Given the description of an element on the screen output the (x, y) to click on. 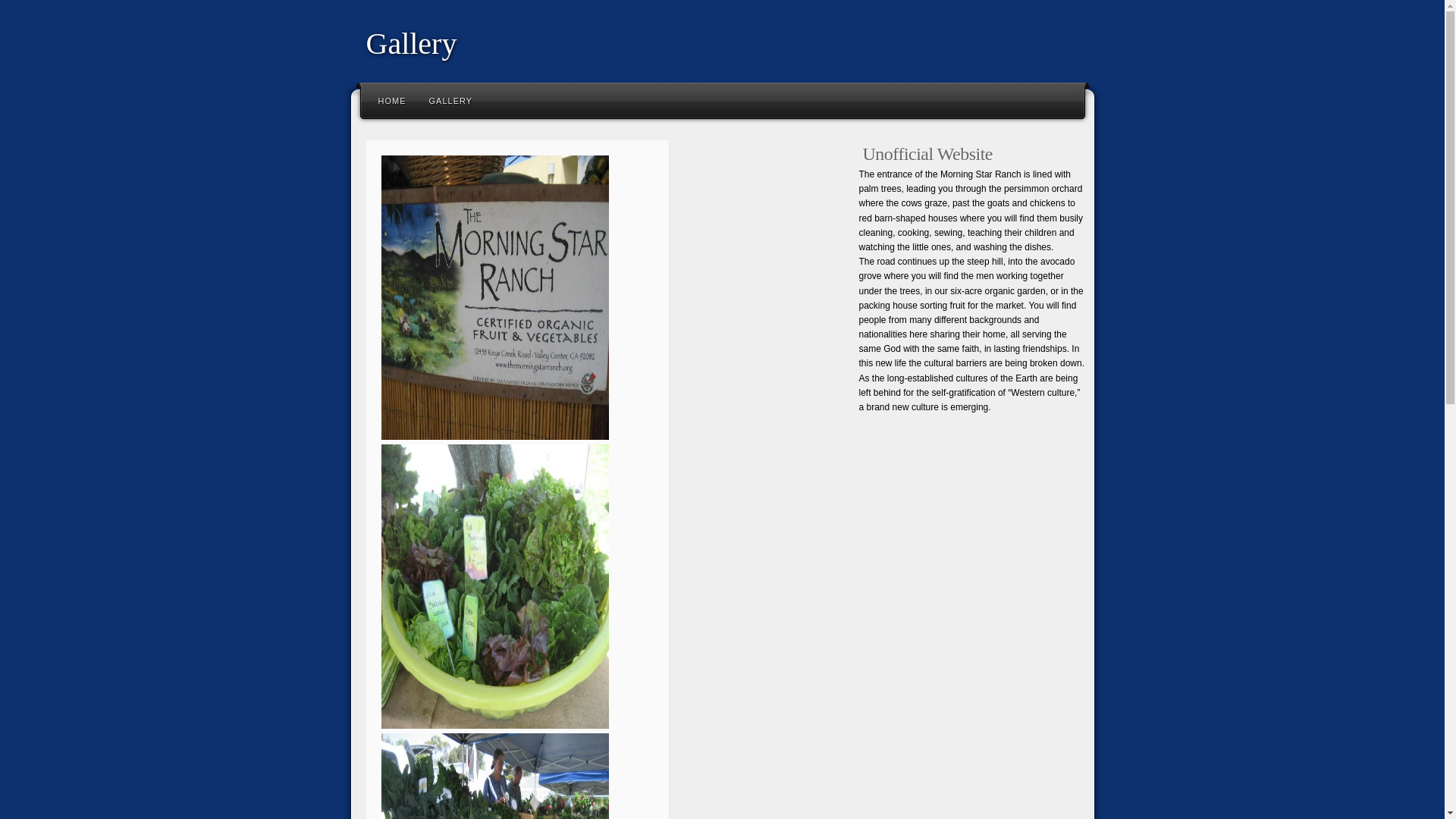
 Gallery (411, 43)
GALLERY (449, 99)
HOME (391, 99)
Home (391, 99)
Gallery (449, 99)
Gallery (411, 43)
